Given the description of an element on the screen output the (x, y) to click on. 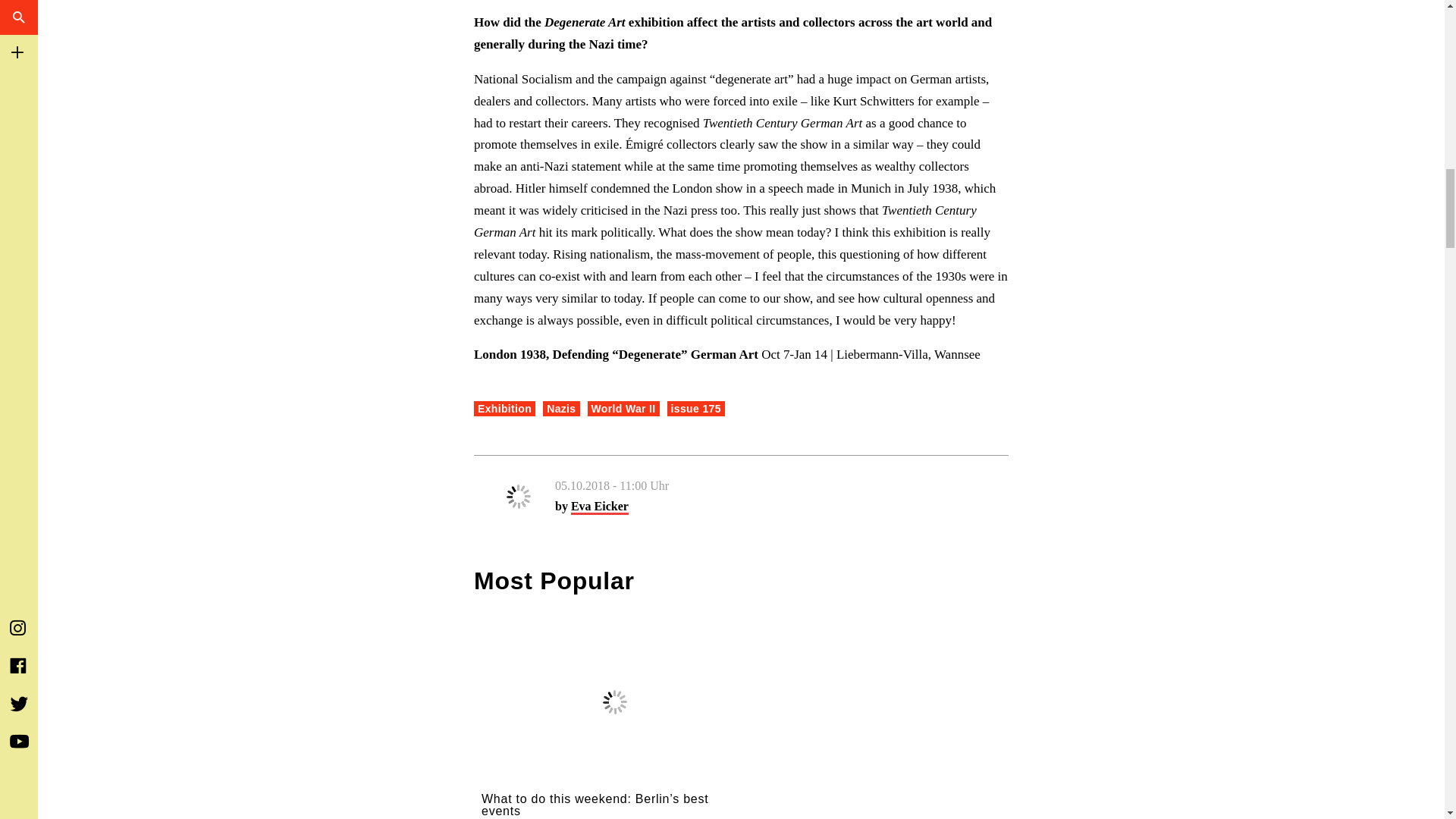
Exhibition (504, 408)
World War II (622, 408)
issue 175 (695, 408)
Nazis (561, 408)
Eva Eicker (599, 507)
